Given the description of an element on the screen output the (x, y) to click on. 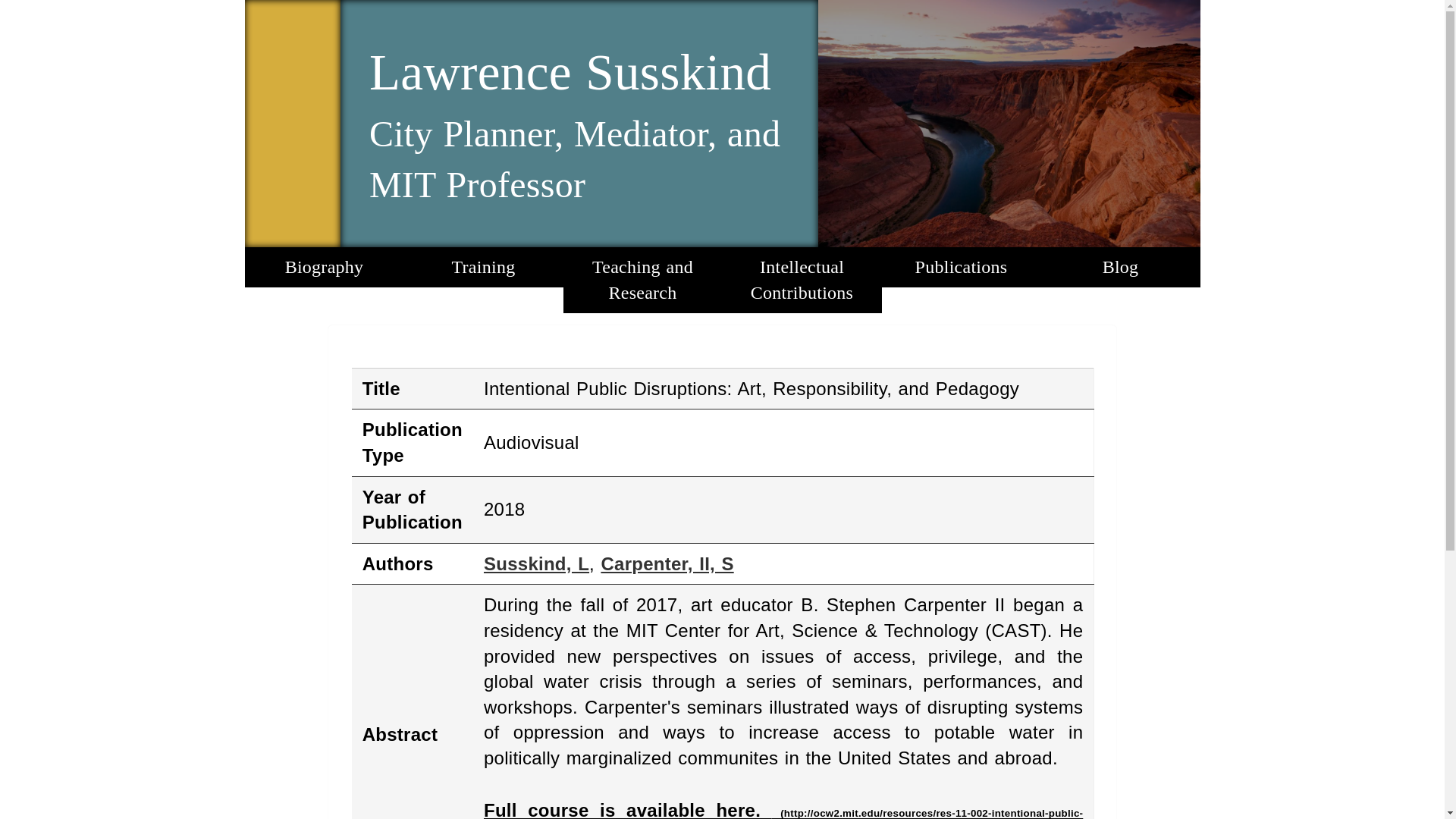
Carpenter, II, S (666, 563)
Susskind, L (536, 563)
Full course is available here.  (783, 809)
